Given the description of an element on the screen output the (x, y) to click on. 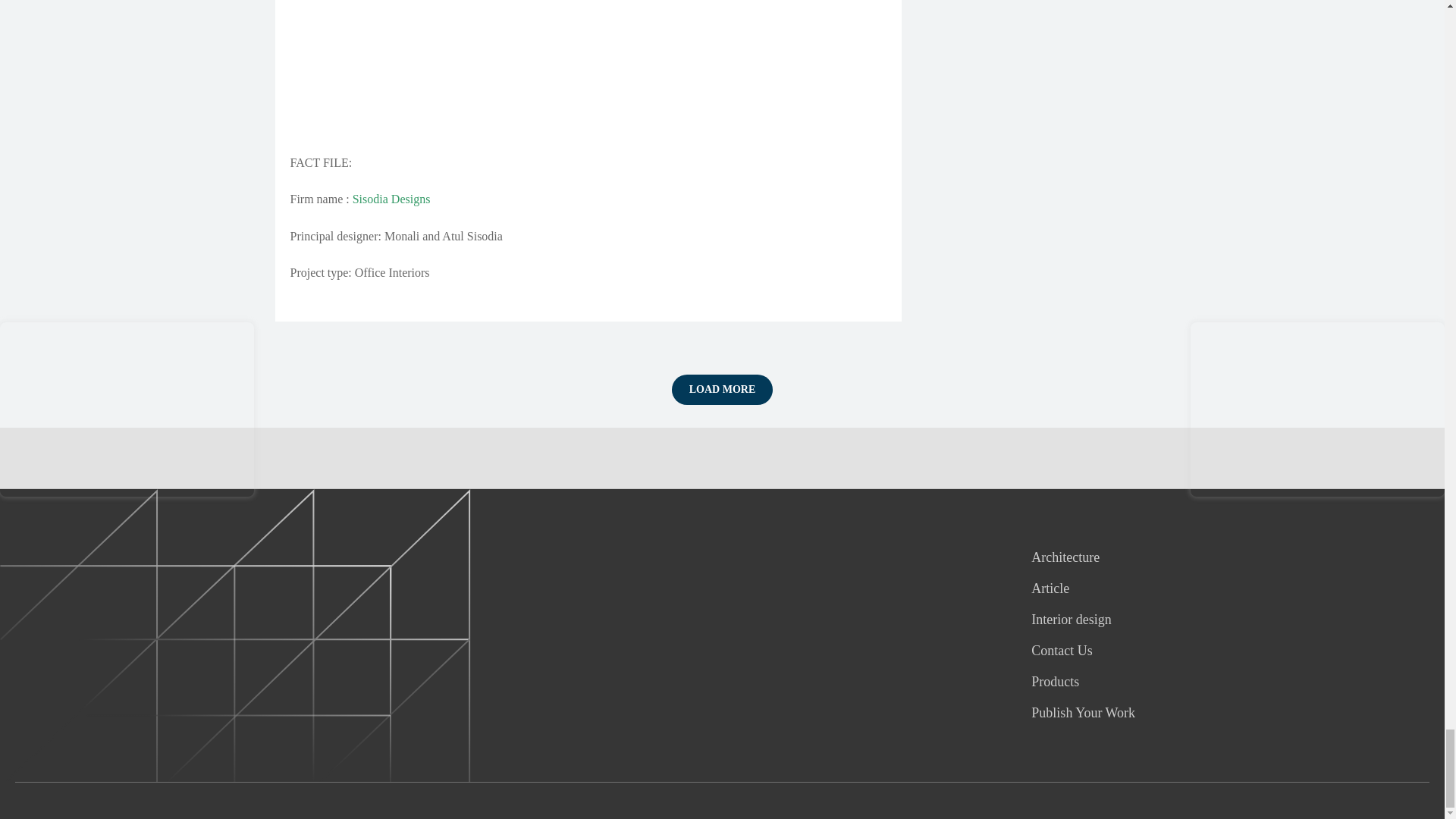
Sisodia Designs (391, 199)
